Given the description of an element on the screen output the (x, y) to click on. 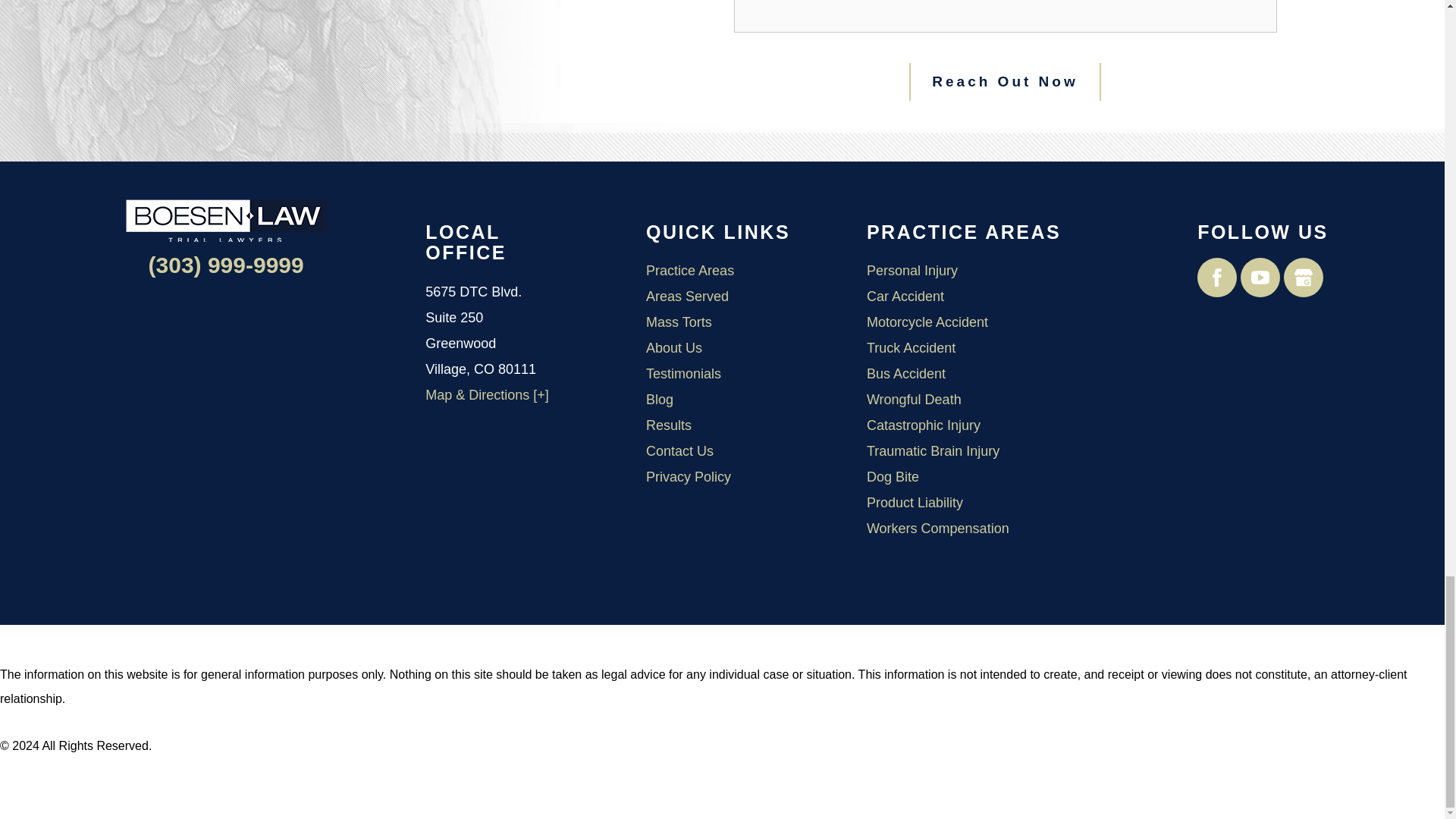
Main Line (226, 264)
